Given the description of an element on the screen output the (x, y) to click on. 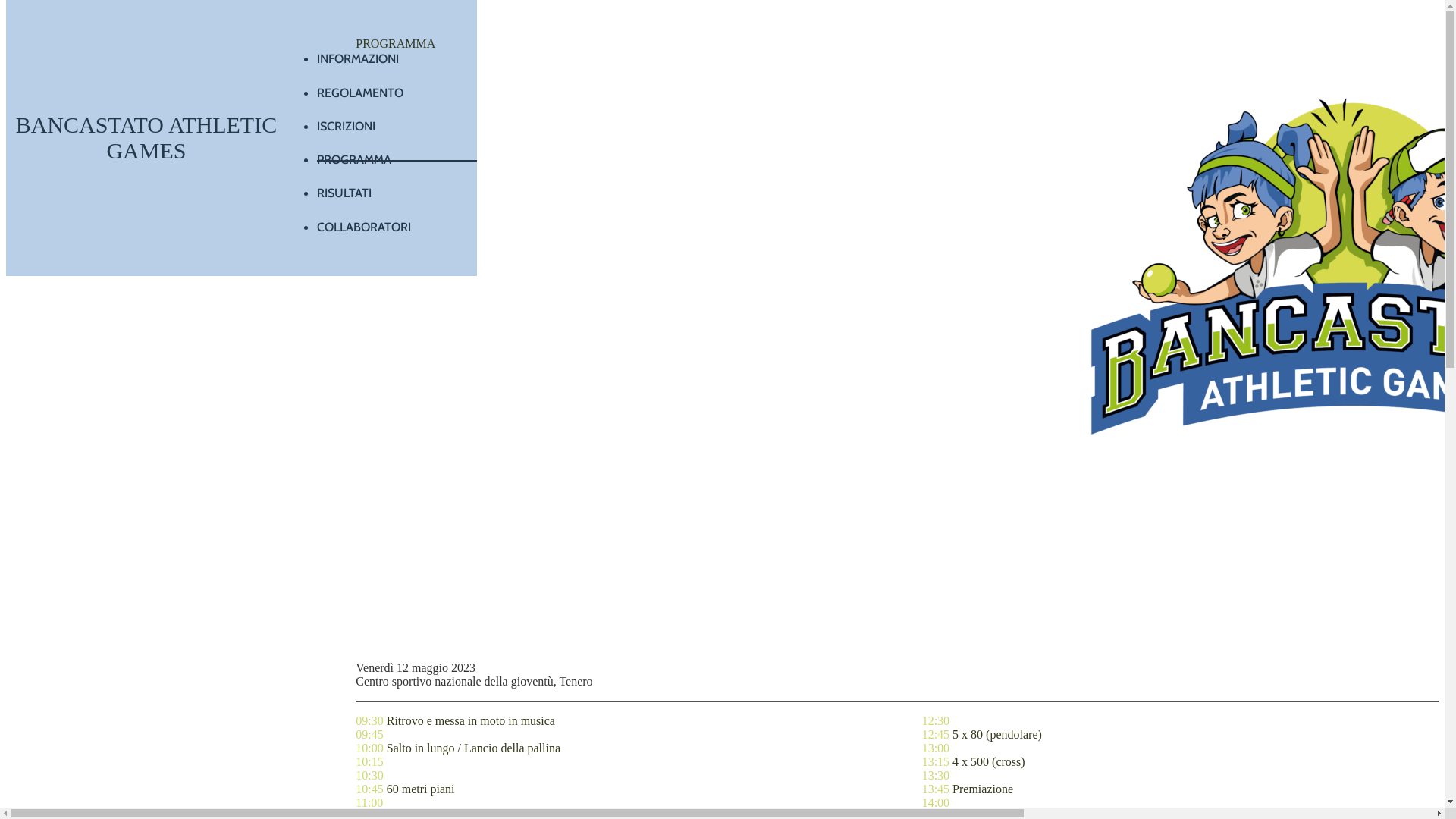
ISCRIZIONI Element type: text (396, 120)
REGOLAMENTO Element type: text (396, 87)
INFORMAZIONI Element type: text (396, 53)
Skip to content Element type: text (42, 13)
COLLABORATORI Element type: text (396, 221)
BANCASTATO ATHLETIC GAMES Element type: text (146, 137)
PROGRAMMA Element type: text (396, 154)
RISULTATI Element type: text (396, 187)
